Given the description of an element on the screen output the (x, y) to click on. 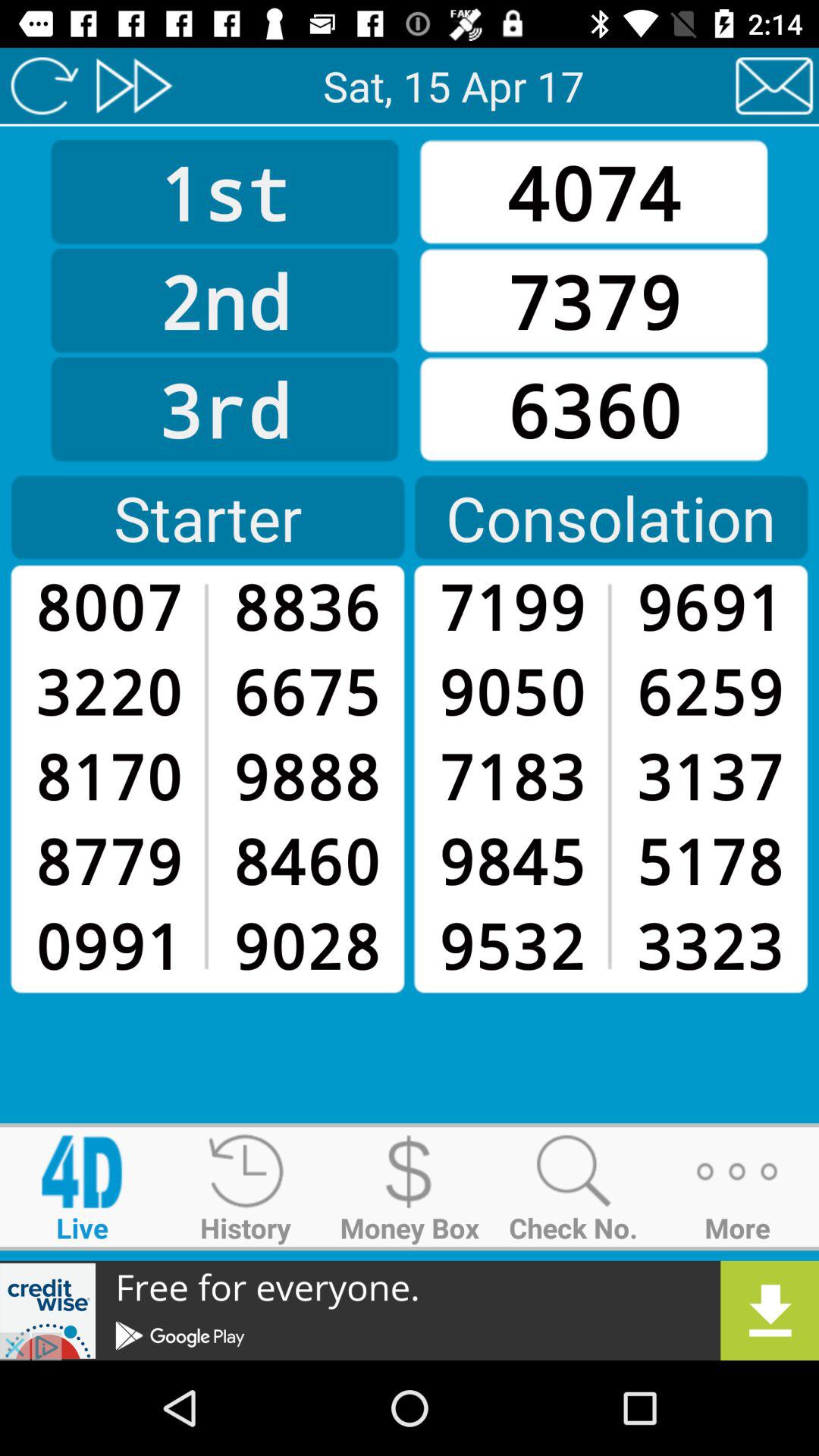
connect to advertisement (409, 1310)
